Given the description of an element on the screen output the (x, y) to click on. 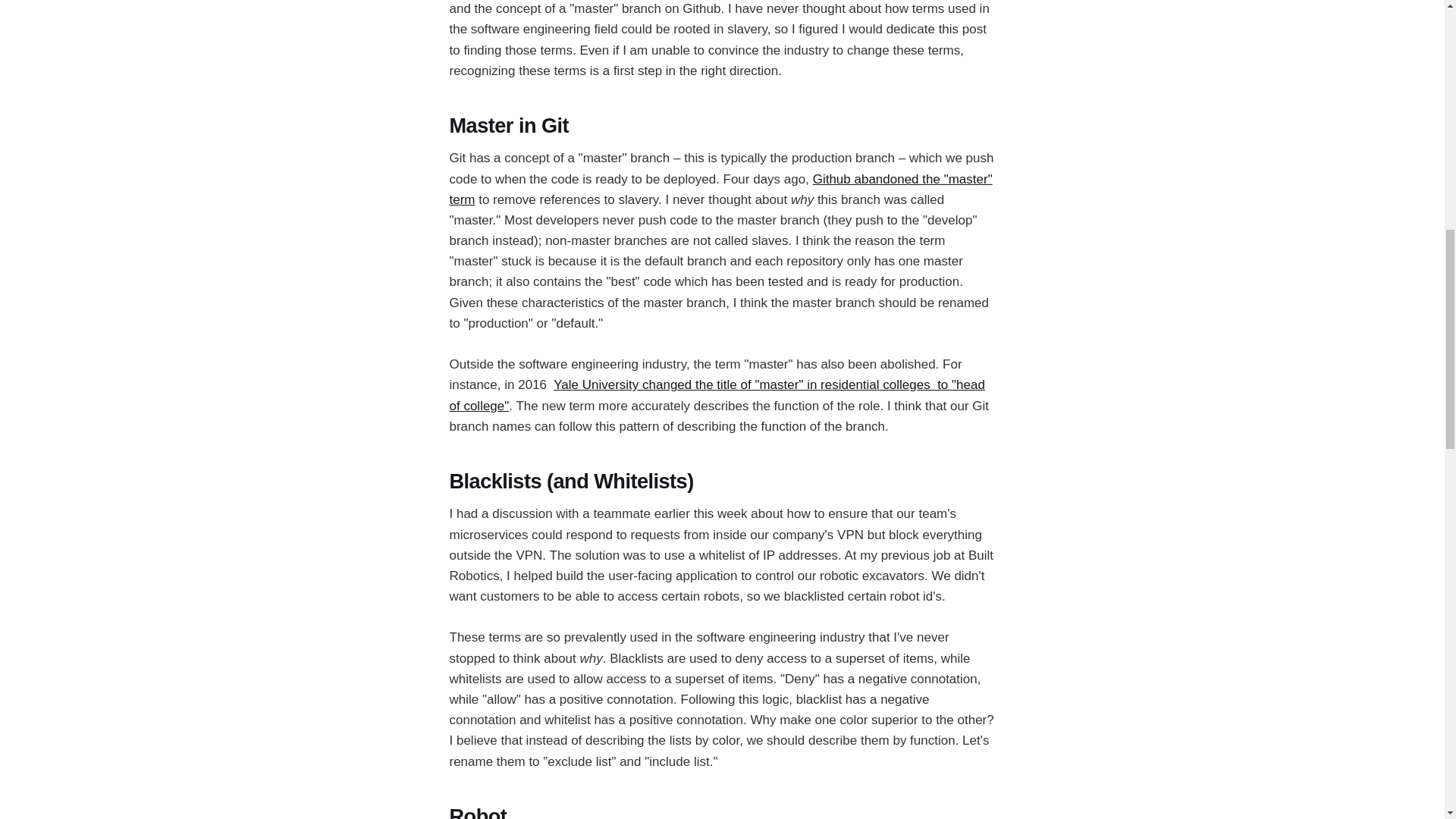
Github abandoned the "master" term (719, 189)
